Given the description of an element on the screen output the (x, y) to click on. 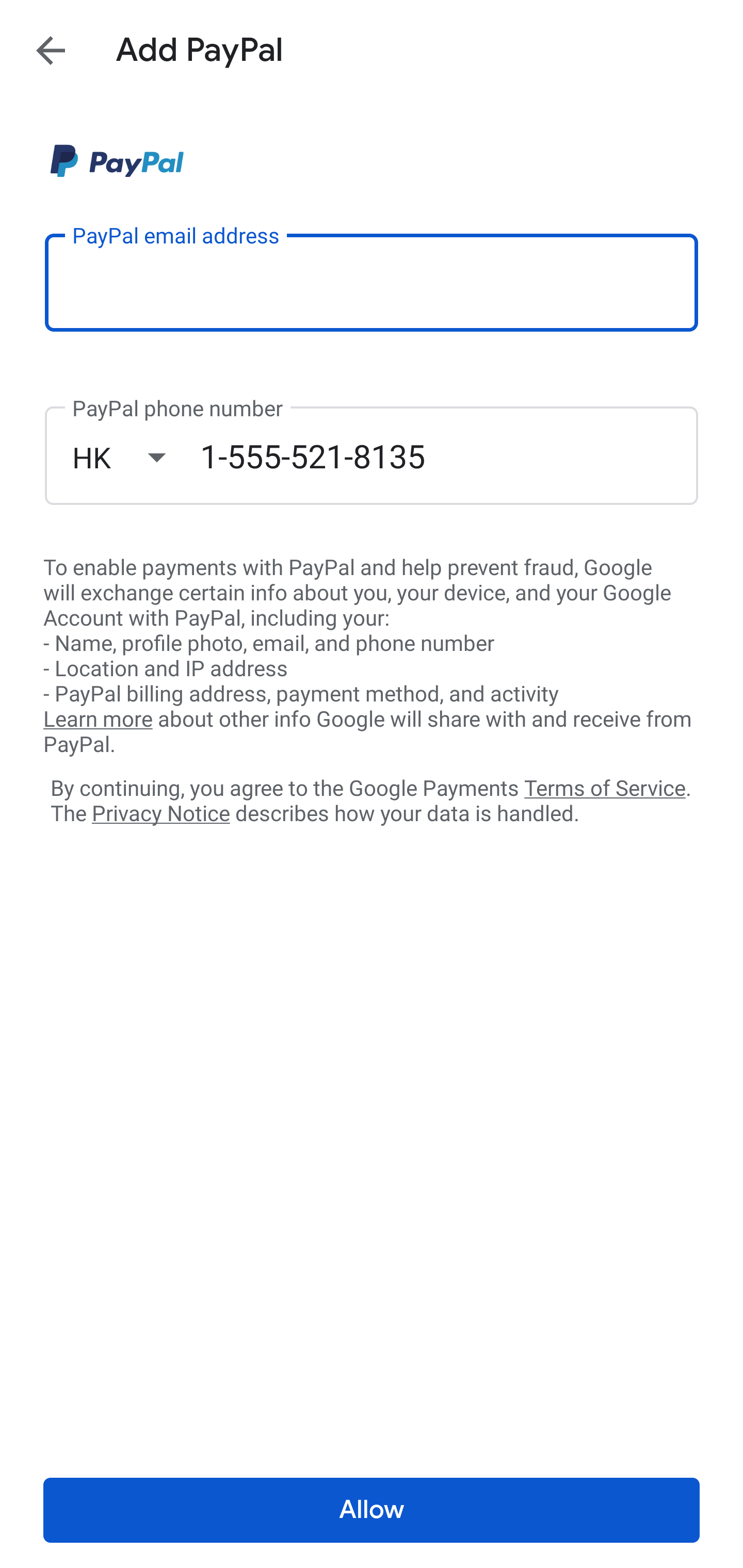
Navigate up (50, 50)
PayPal email address (371, 282)
HK (135, 456)
Learn more (97, 719)
Terms of Service (604, 787)
Privacy Notice (160, 814)
Allow (371, 1510)
